Given the description of an element on the screen output the (x, y) to click on. 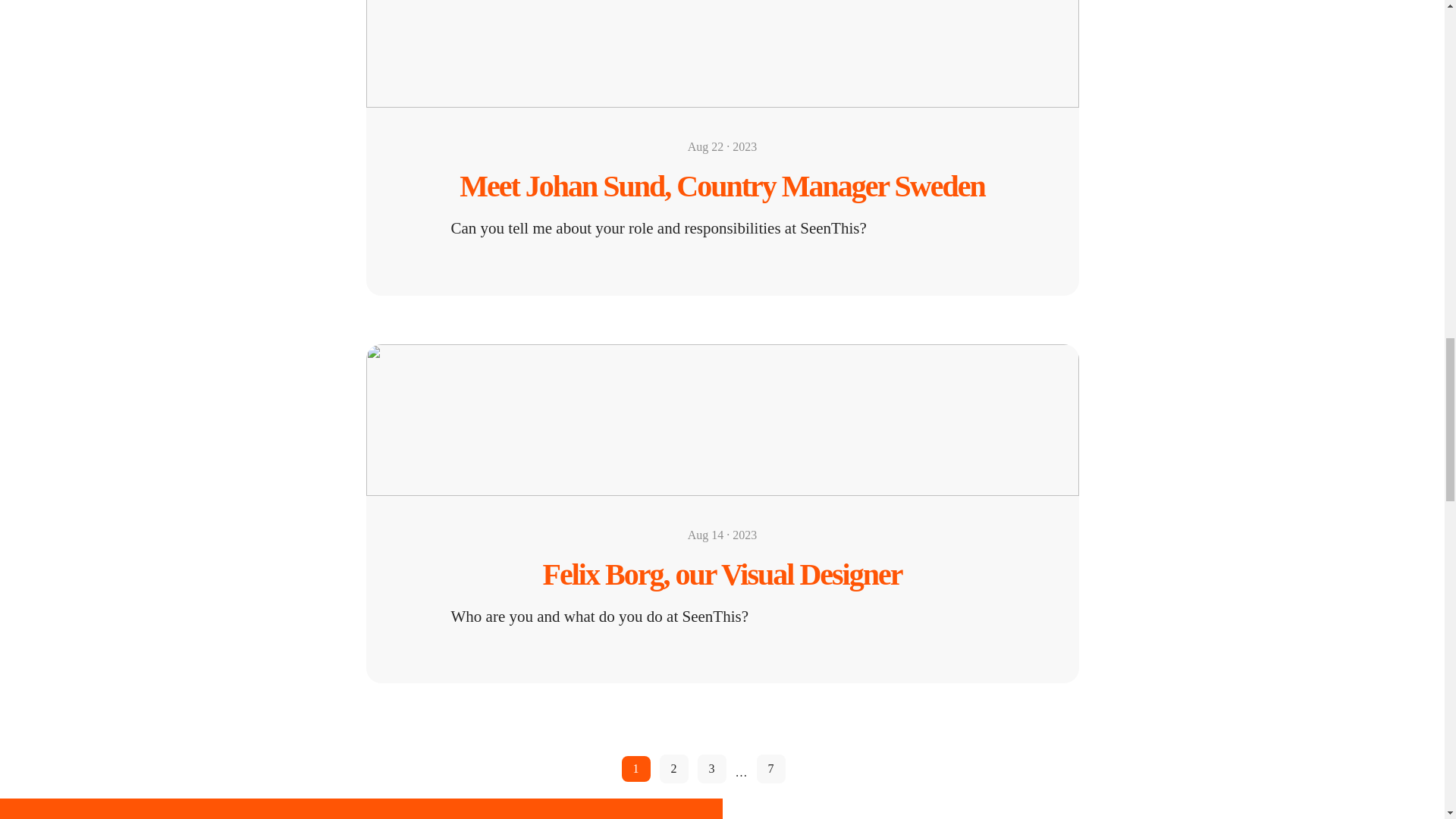
3 (711, 768)
1 (635, 768)
7 (771, 768)
2 (673, 768)
